Given the description of an element on the screen output the (x, y) to click on. 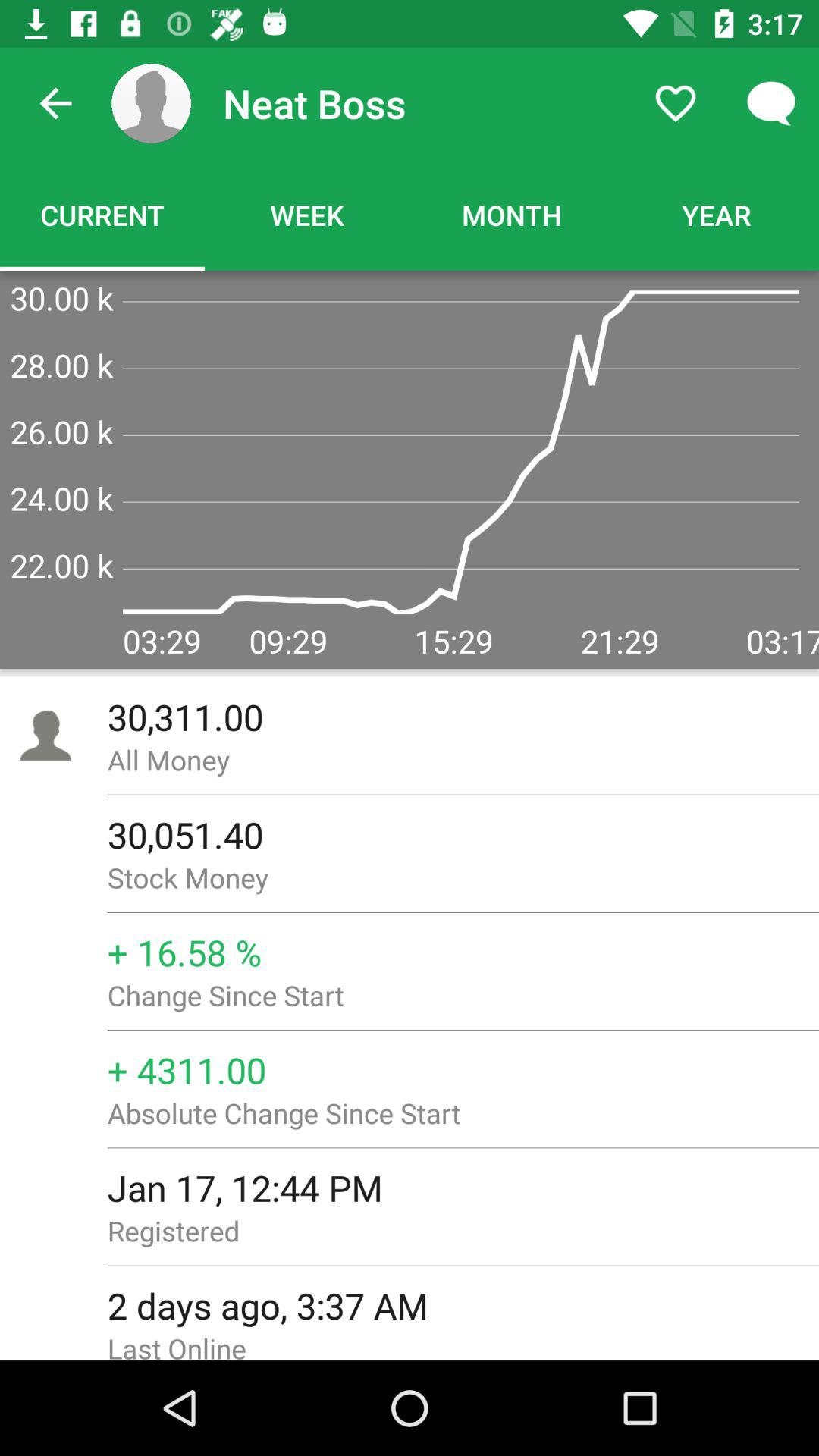
show profile picture (151, 103)
